Given the description of an element on the screen output the (x, y) to click on. 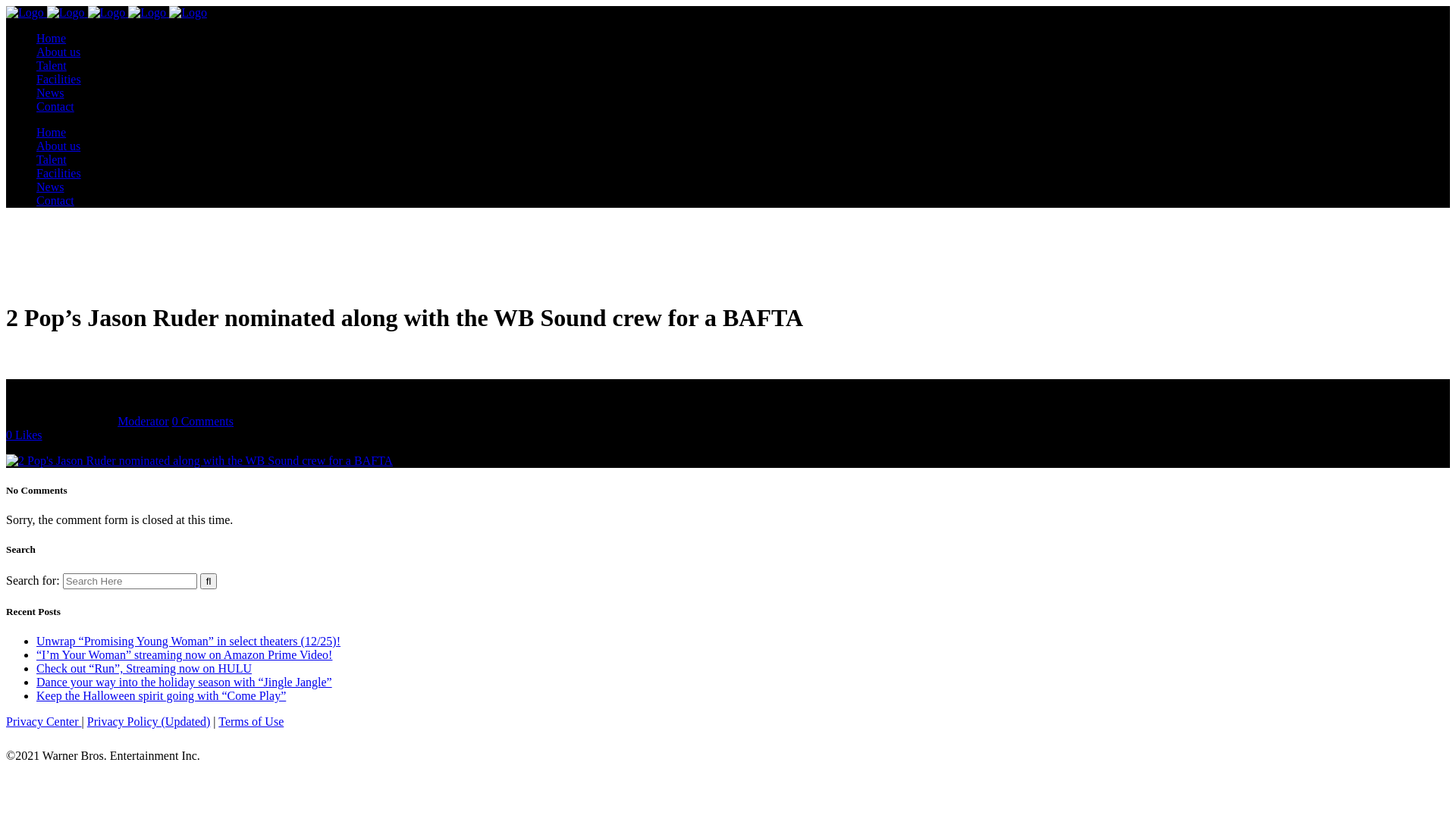
Privacy Center Element type: text (43, 721)
Privacy Policy (Updated) Element type: text (148, 721)
Talent Element type: text (51, 159)
Contact Element type: text (55, 106)
Talent Element type: text (51, 65)
Moderator Element type: text (143, 420)
News Element type: text (49, 186)
Home Element type: text (50, 37)
News Element type: text (49, 92)
About us Element type: text (58, 145)
Terms of Use Element type: text (250, 721)
Facilities Element type: text (58, 172)
About us Element type: text (58, 51)
0 Likes Element type: text (24, 434)
0 Comments Element type: text (202, 420)
Facilities Element type: text (58, 78)
Home Element type: text (50, 131)
Contact Element type: text (55, 200)
